Given the description of an element on the screen output the (x, y) to click on. 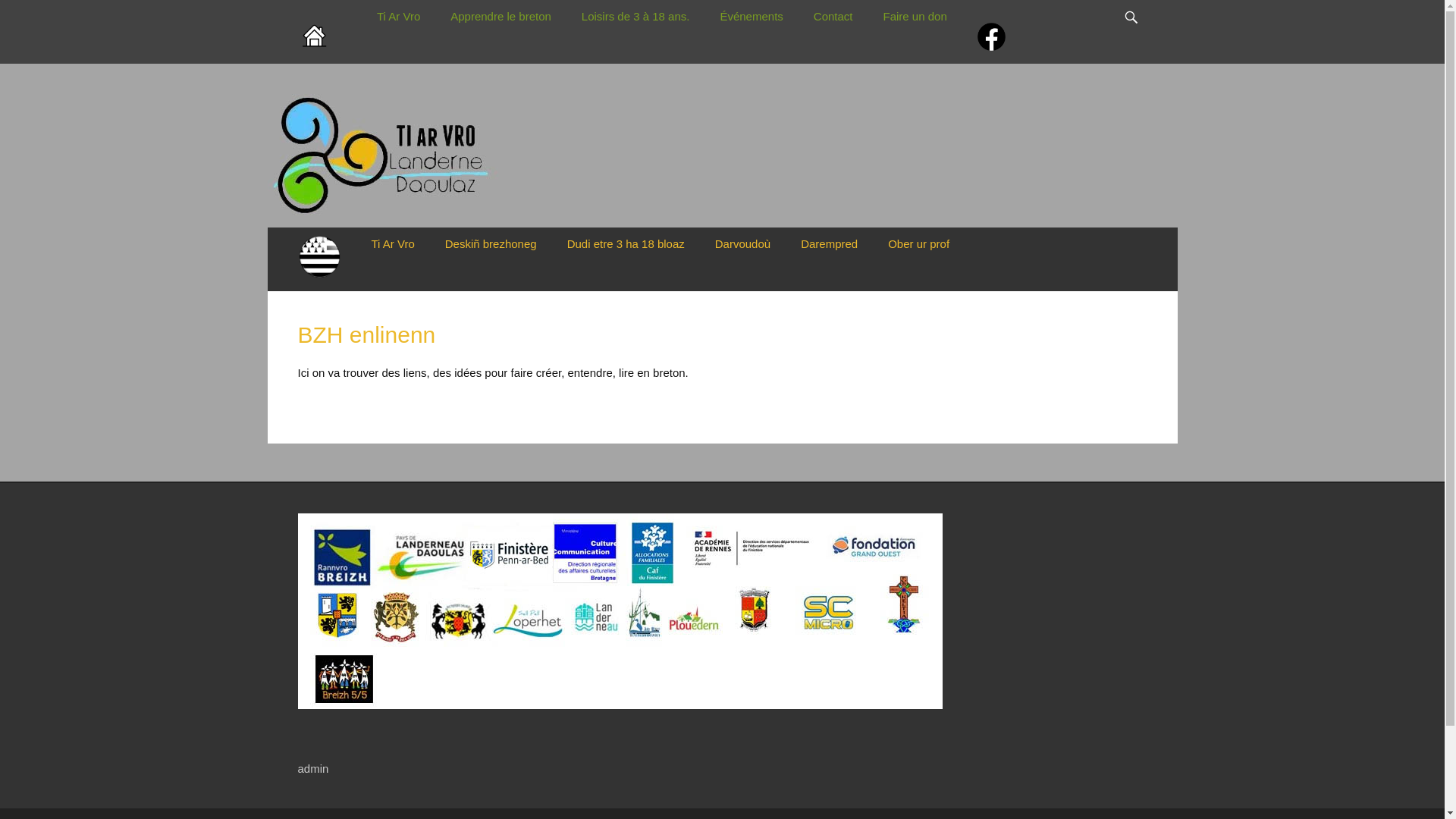
Rechercher Element type: text (1139, 0)
admin Element type: text (312, 768)
Ti Ar Vro Element type: text (398, 16)
Darempred Element type: text (828, 243)
Ti Ar Vro Element type: text (392, 243)
Faire un don Element type: text (915, 16)
Apprendre le breton Element type: text (500, 16)
Ober ur prof Element type: text (918, 243)
Contact Element type: text (833, 16)
